Given the description of an element on the screen output the (x, y) to click on. 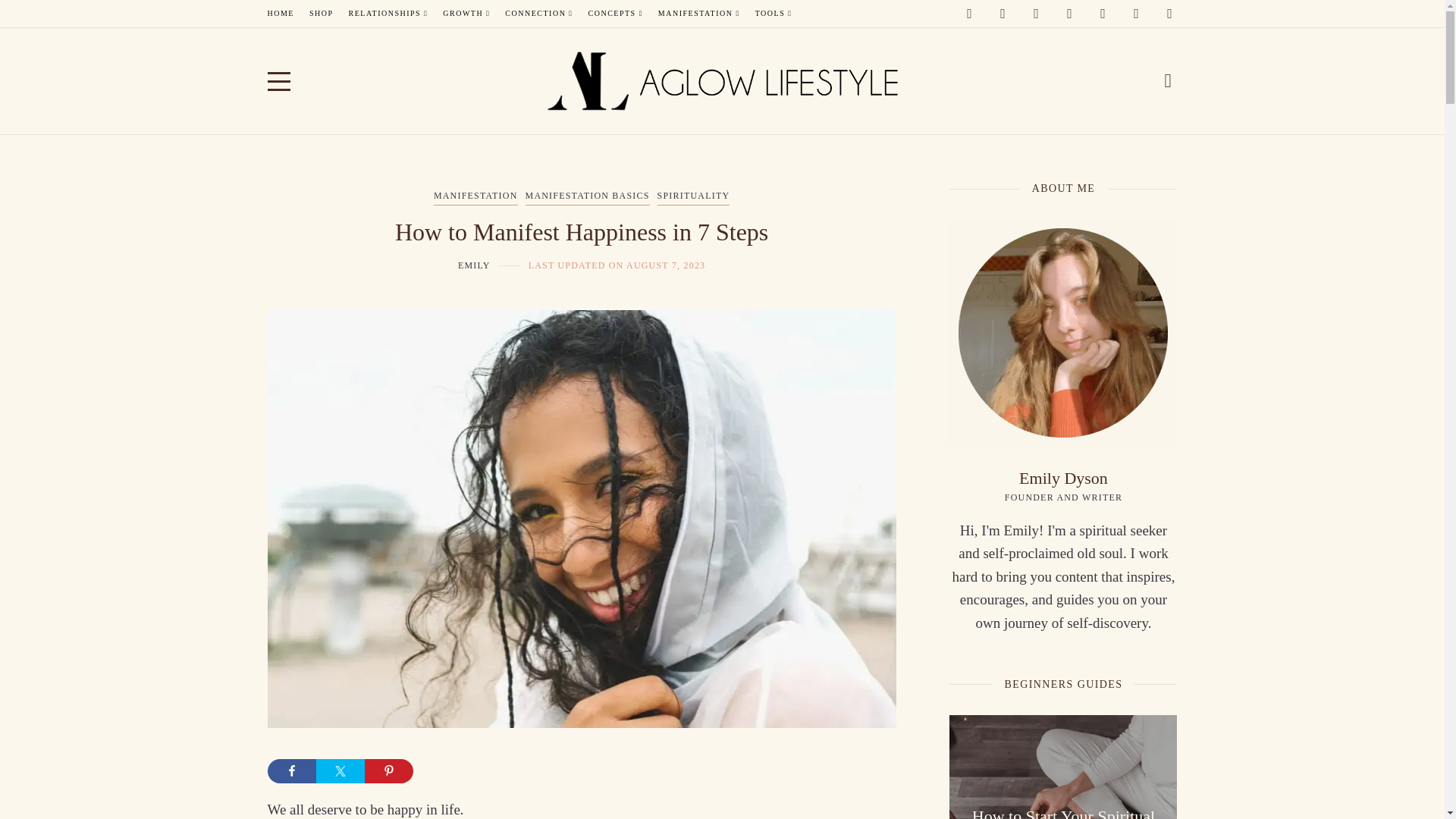
YouTube (1102, 13)
Pinterest (1069, 13)
GROWTH (466, 13)
Share on Twitter (339, 770)
CONNECTION (538, 13)
CONCEPTS (615, 13)
EMILY (474, 265)
RELATIONSHIPS (387, 13)
SHOP (320, 13)
MANIFESTATION BASICS (587, 197)
